Given the description of an element on the screen output the (x, y) to click on. 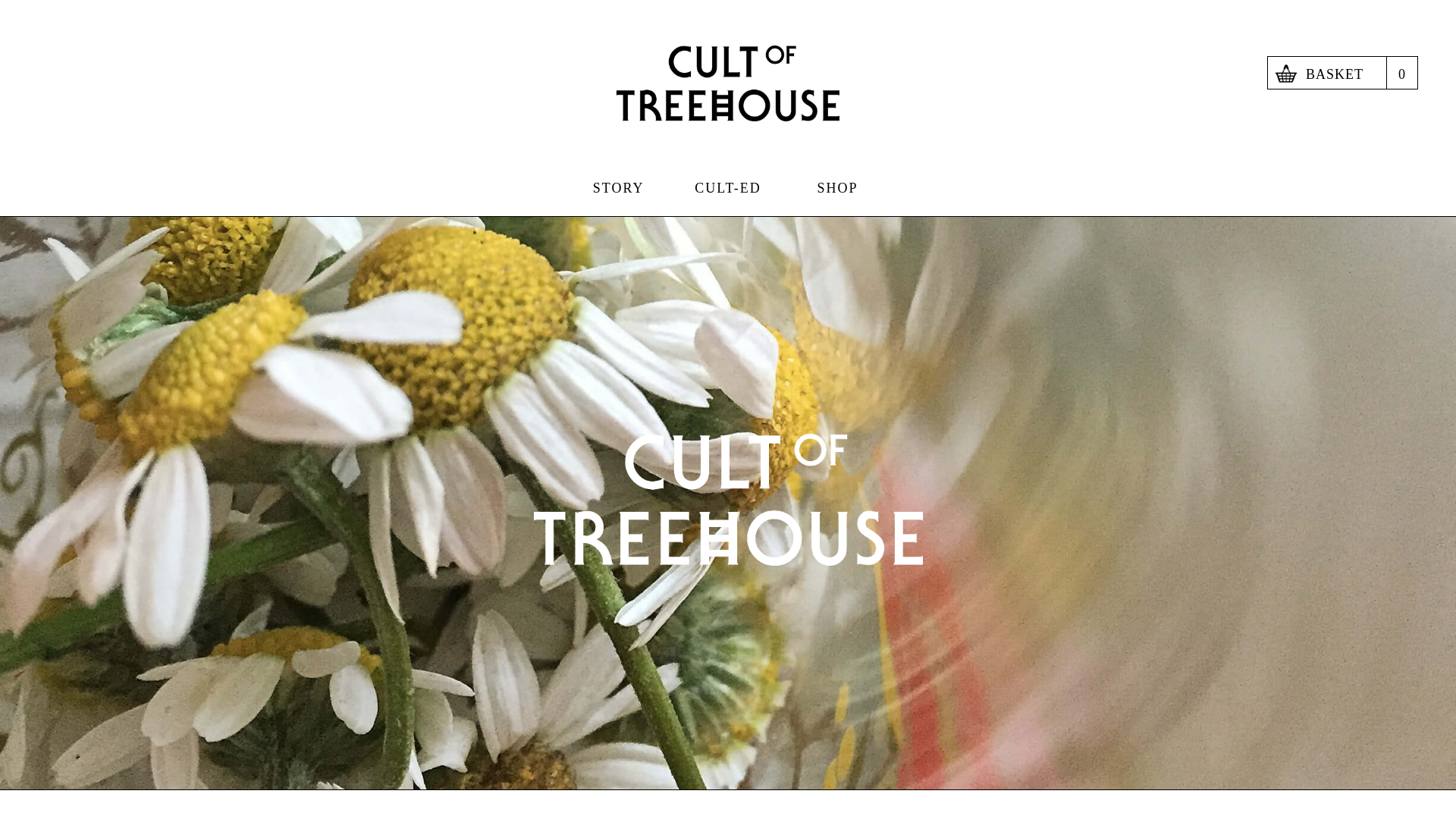
STORY (617, 187)
SHOP (837, 187)
CULT-ED (1342, 73)
